Given the description of an element on the screen output the (x, y) to click on. 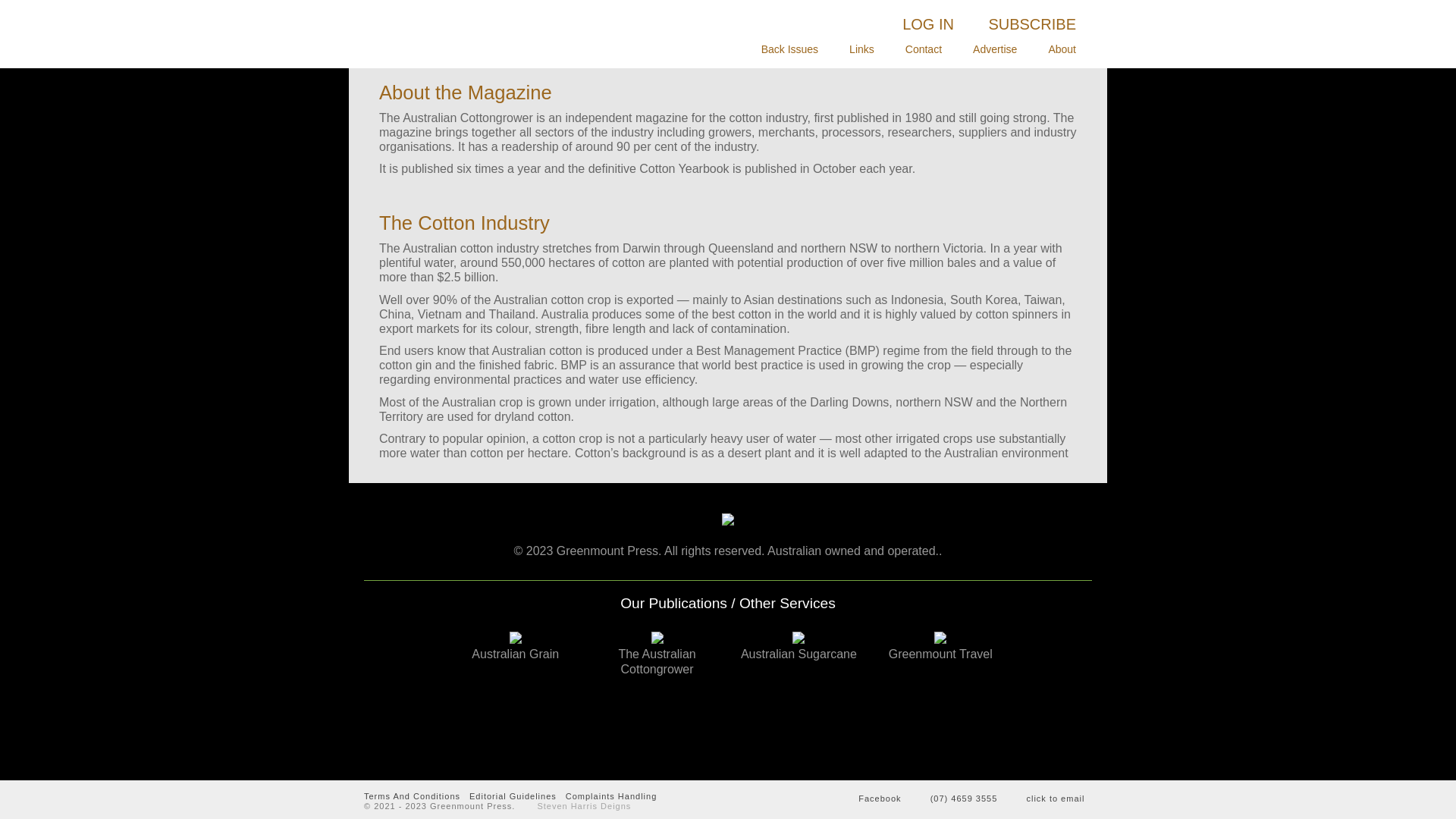
Steven Harris Deigns Element type: text (573, 805)
The Australian Cottongrower Element type: text (656, 653)
Editorial Guidelines Element type: text (512, 795)
Terms And Conditions Element type: text (412, 795)
click to email Element type: text (1045, 795)
About Element type: text (1061, 48)
Australian Grain Element type: text (515, 646)
Complaints Handling Element type: text (611, 795)
The Australian Cottongrower Element type: text (477, 37)
Greenmount Travel Element type: text (940, 646)
(07) 4659 3555 Element type: text (954, 795)
Links Element type: text (861, 48)
SUBSCRIBE Element type: text (1031, 23)
Advertise Element type: text (994, 48)
Back Issues Element type: text (789, 48)
LOG IN Element type: text (928, 23)
Facebook Element type: text (870, 795)
Contact Element type: text (923, 48)
Australian Sugarcane Element type: text (798, 646)
